Given the description of an element on the screen output the (x, y) to click on. 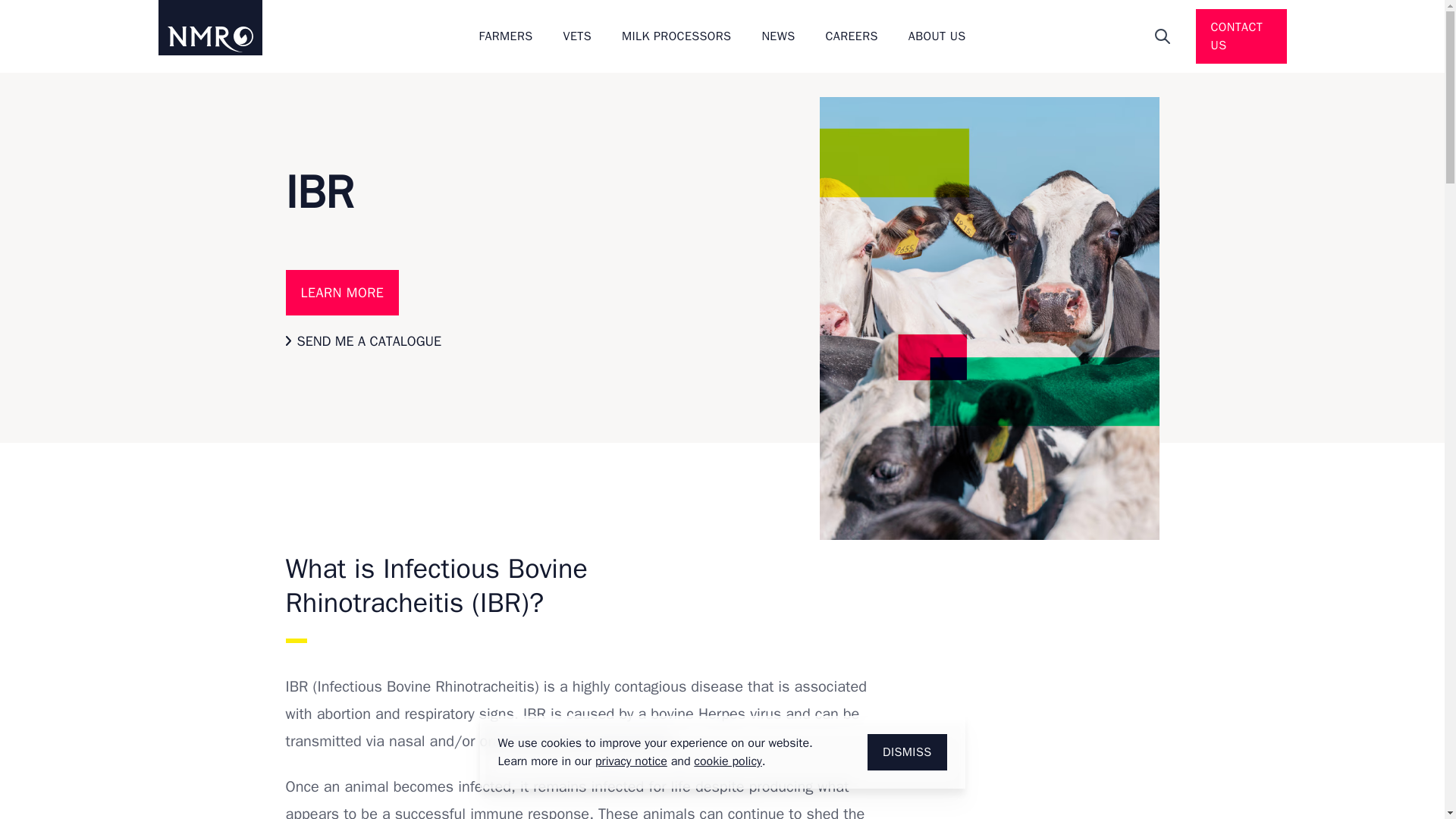
privacy notice (630, 761)
cookie policy (727, 761)
DISMISS (907, 751)
